Given the description of an element on the screen output the (x, y) to click on. 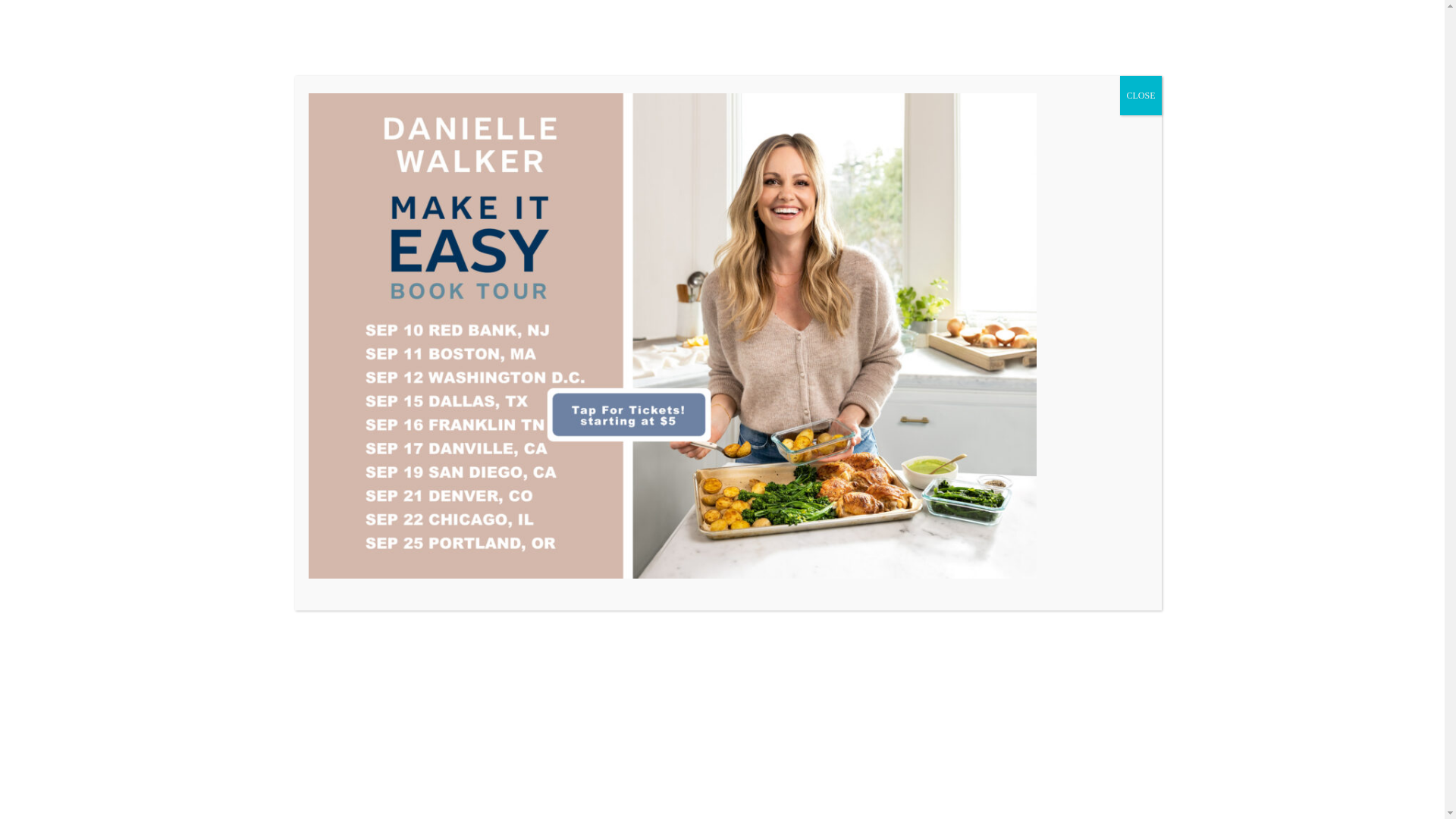
COOKBOOKS (1089, 312)
NEWEST COOKBOOK! (860, 312)
BOOK TOUR (987, 312)
BLOG (450, 312)
ABOUT (384, 312)
Watermelon Pineapple Ice Pops (418, 673)
Watermelon Pineapple Ice Pops (432, 514)
Watermelon Pineapple Ice Pops (462, 672)
SEASONING BLENDS (635, 312)
CLICK TO GET MY TOP 8 GLUTEN-FREE RECIPES! (725, 163)
SHOP (745, 312)
RECIPES (520, 312)
